Given the description of an element on the screen output the (x, y) to click on. 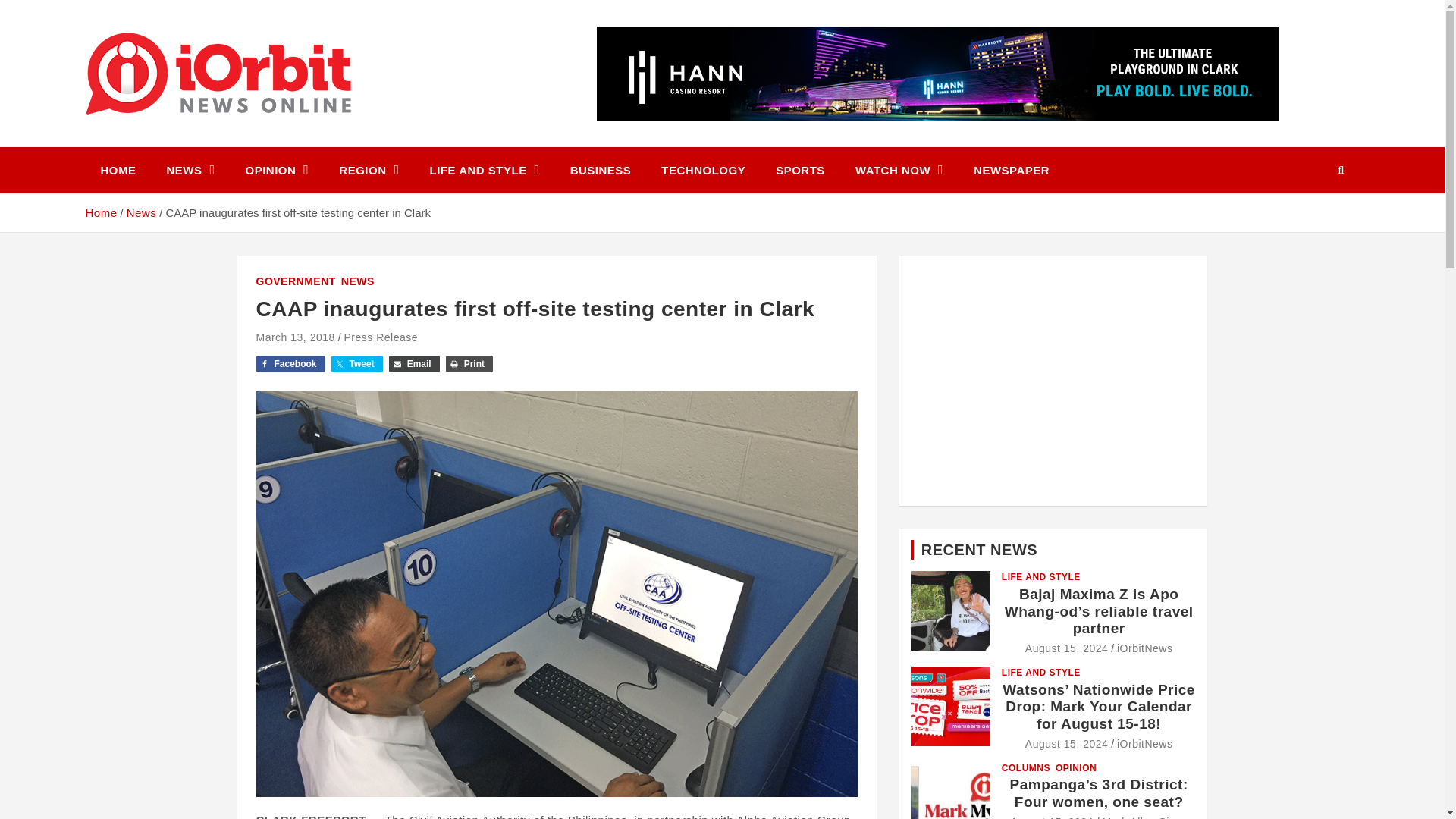
HOME (117, 170)
BUSINESS (600, 170)
Share via Email (413, 363)
NEWS (190, 170)
iOrbit News Online (223, 143)
Share on Twitter (356, 363)
NEWSPAPER (1011, 170)
News (141, 212)
LIFE AND STYLE (484, 170)
Print this Page (469, 363)
